Given the description of an element on the screen output the (x, y) to click on. 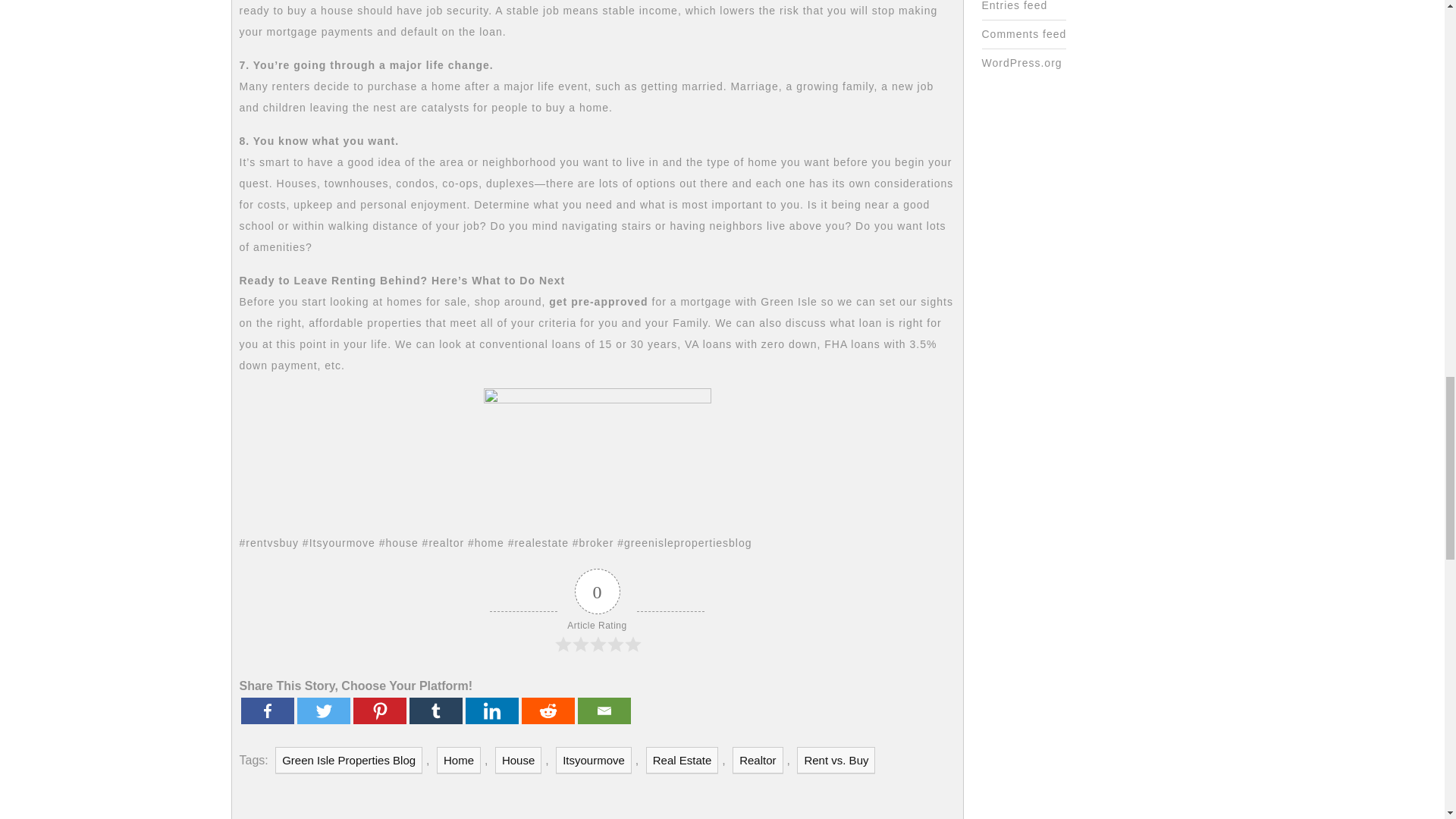
Tumblr (436, 710)
Email (604, 710)
Facebook (267, 710)
Itsyourmove (593, 759)
Pinterest (379, 710)
House (518, 759)
Twitter (323, 710)
Green Isle Properties Blog (348, 759)
Reddit (548, 710)
Linkedin (491, 710)
Home (458, 759)
